Given the description of an element on the screen output the (x, y) to click on. 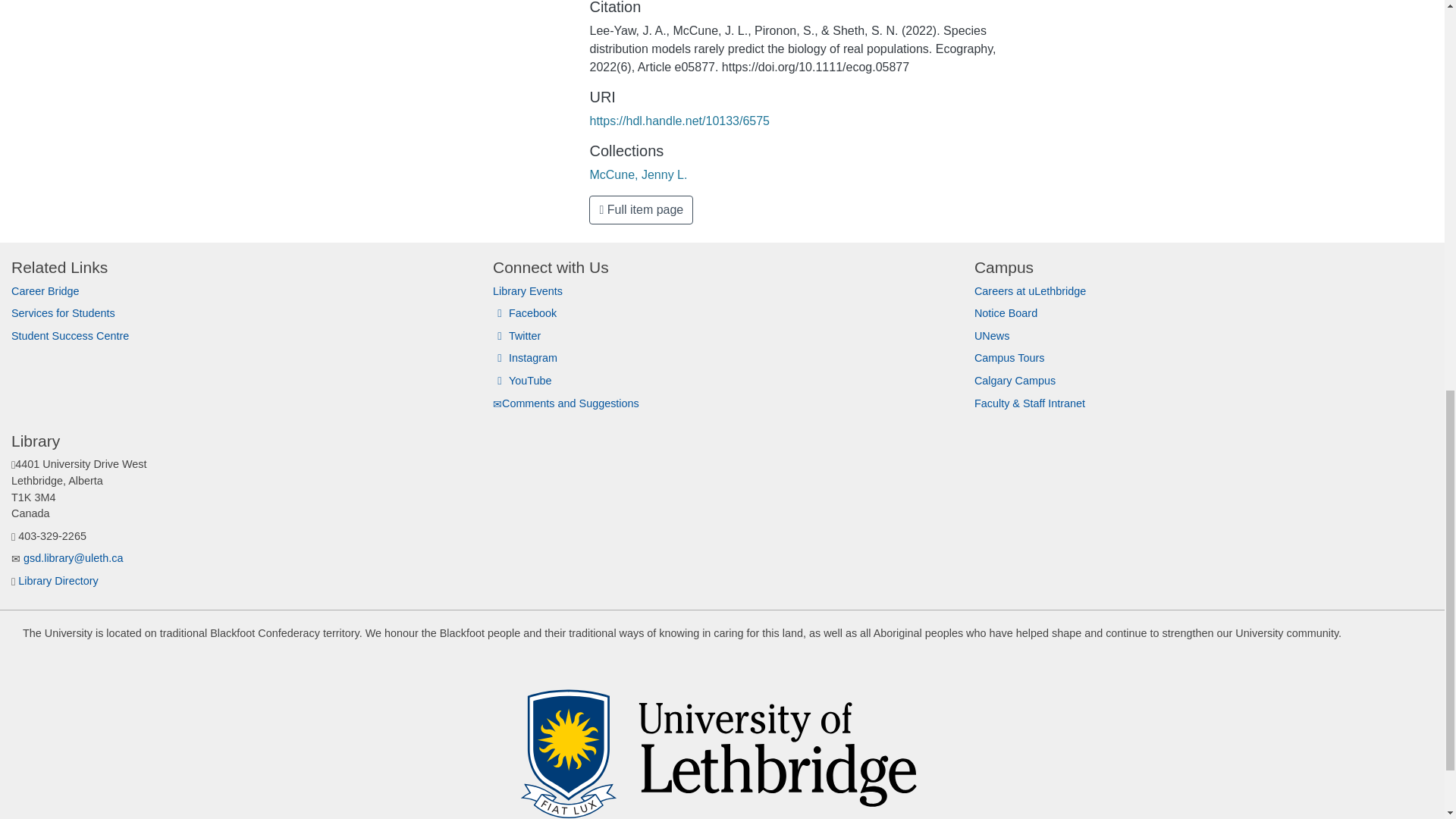
Campus Tours (1009, 357)
Careers at uLethbridge (1030, 291)
YouTube (522, 380)
Services for Students (63, 313)
Full item page (641, 209)
Twitter (516, 336)
Student Success Centre (70, 336)
Library Events (527, 291)
The University of Lethbridge (721, 743)
Notice Board (1005, 313)
